Given the description of an element on the screen output the (x, y) to click on. 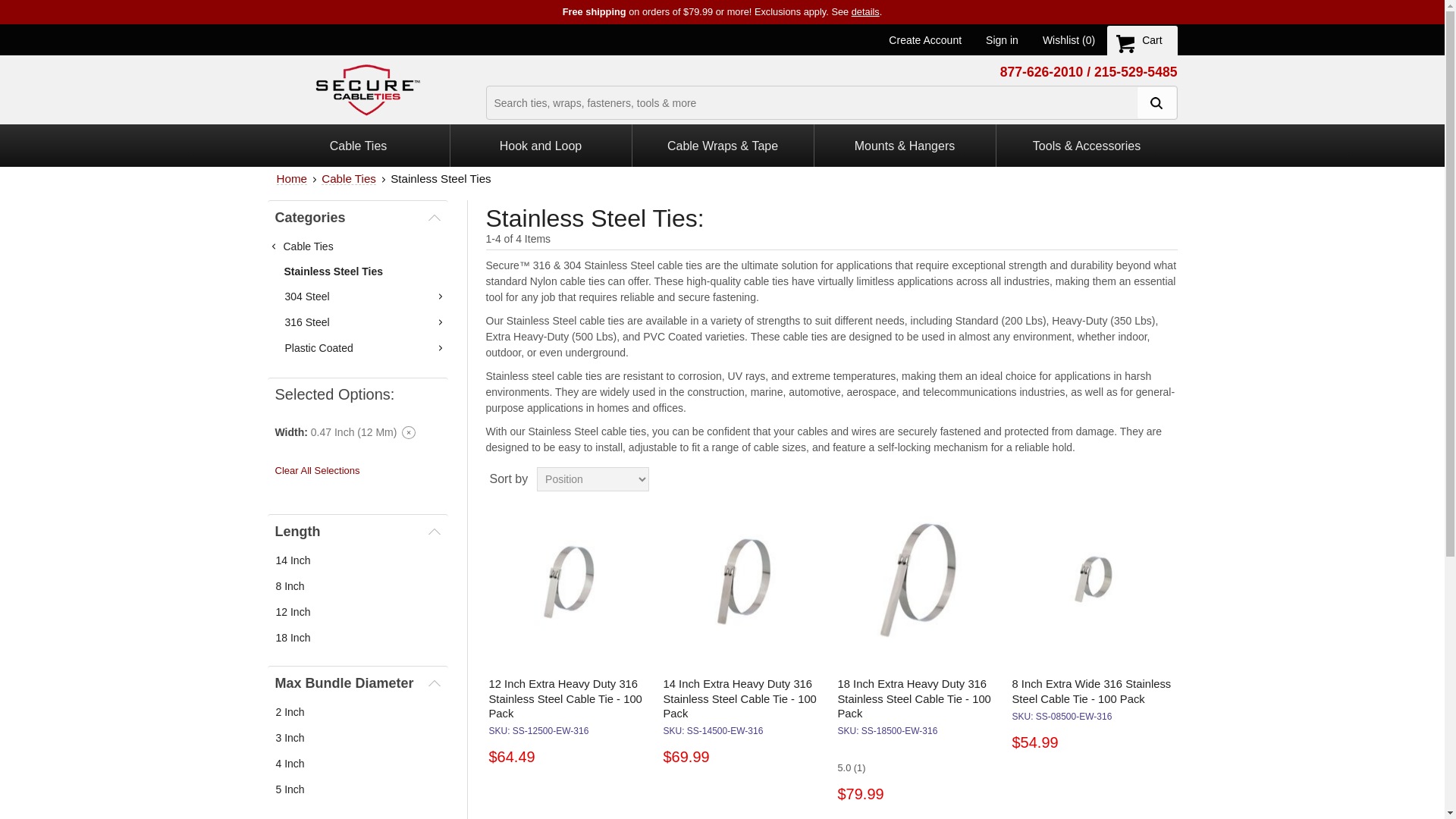
details (865, 11)
Sign in (1001, 40)
Search (1154, 101)
Create Account (924, 40)
Cable Ties (348, 178)
Cable Ties (358, 146)
